Given the description of an element on the screen output the (x, y) to click on. 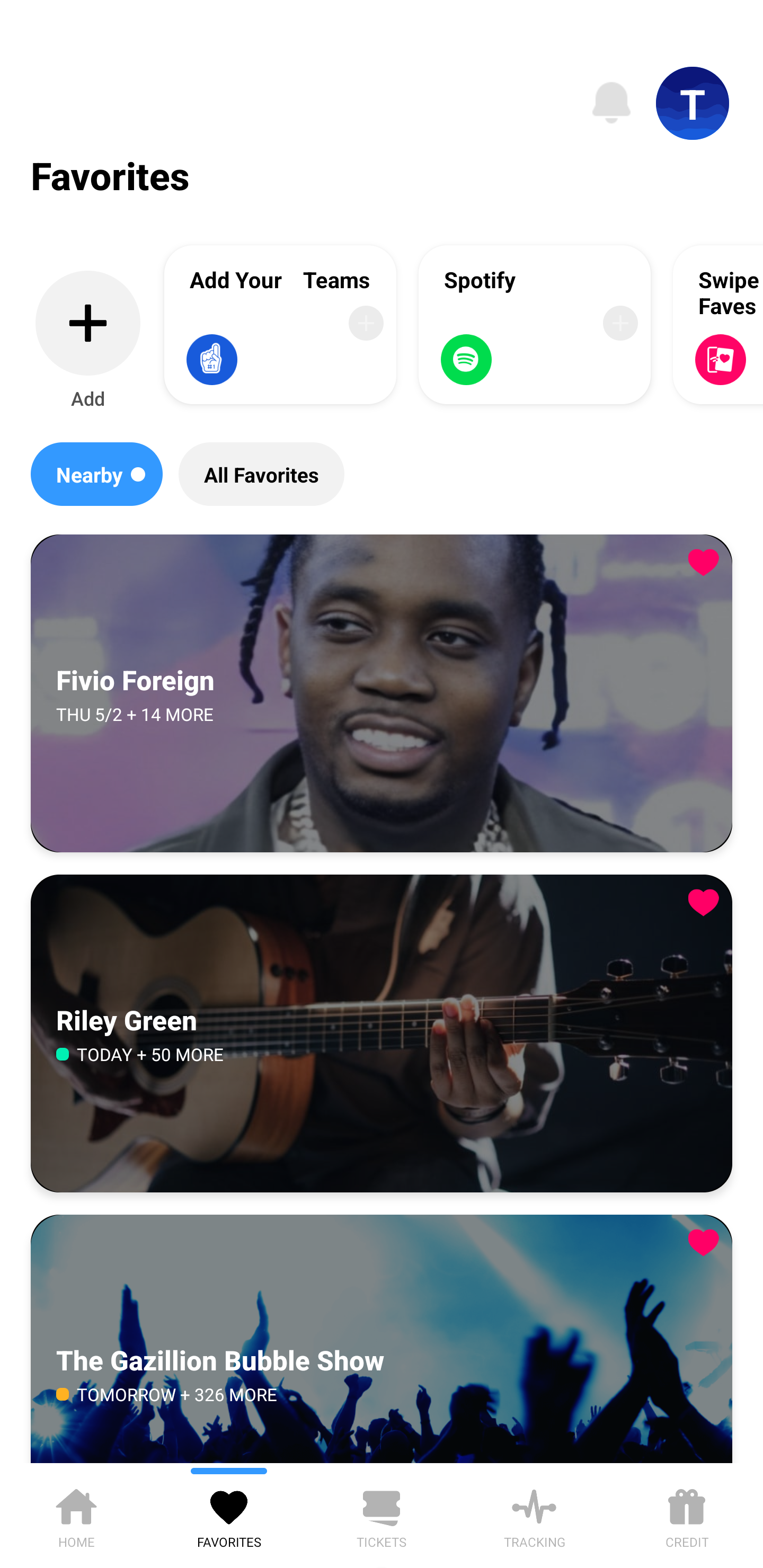
T (692, 103)
Add Your    Teams (279, 324)
Spotify (534, 324)
Add (87, 340)
Nearby (96, 474)
All Favorites (261, 474)
HOME (76, 1515)
FAVORITES (228, 1515)
TICKETS (381, 1515)
TRACKING (533, 1515)
CREDIT (686, 1515)
